Given the description of an element on the screen output the (x, y) to click on. 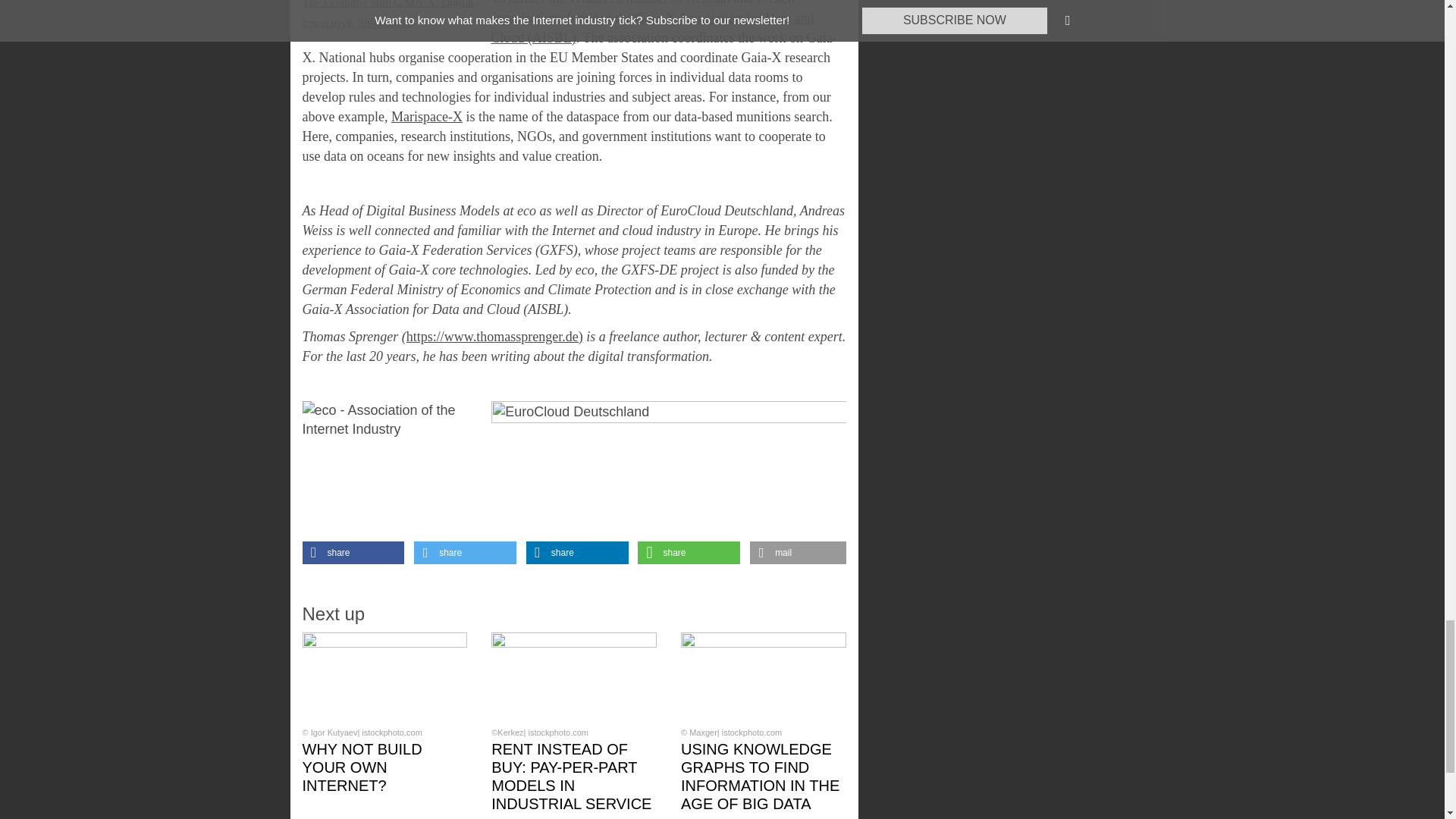
The Economy with GAIA-X: Digital, Innovative, Sustainable (388, 14)
share (688, 552)
share (464, 552)
share (576, 552)
Marispace-X (427, 116)
share (352, 552)
eco - Association of the Internet Industry (384, 467)
Send by email (797, 552)
Share on Twitter (464, 552)
Share on Facebook (352, 552)
Share on LinkedIn (576, 552)
EuroCloud Deutschland (668, 471)
Share on Whatsapp (688, 552)
